Given the description of an element on the screen output the (x, y) to click on. 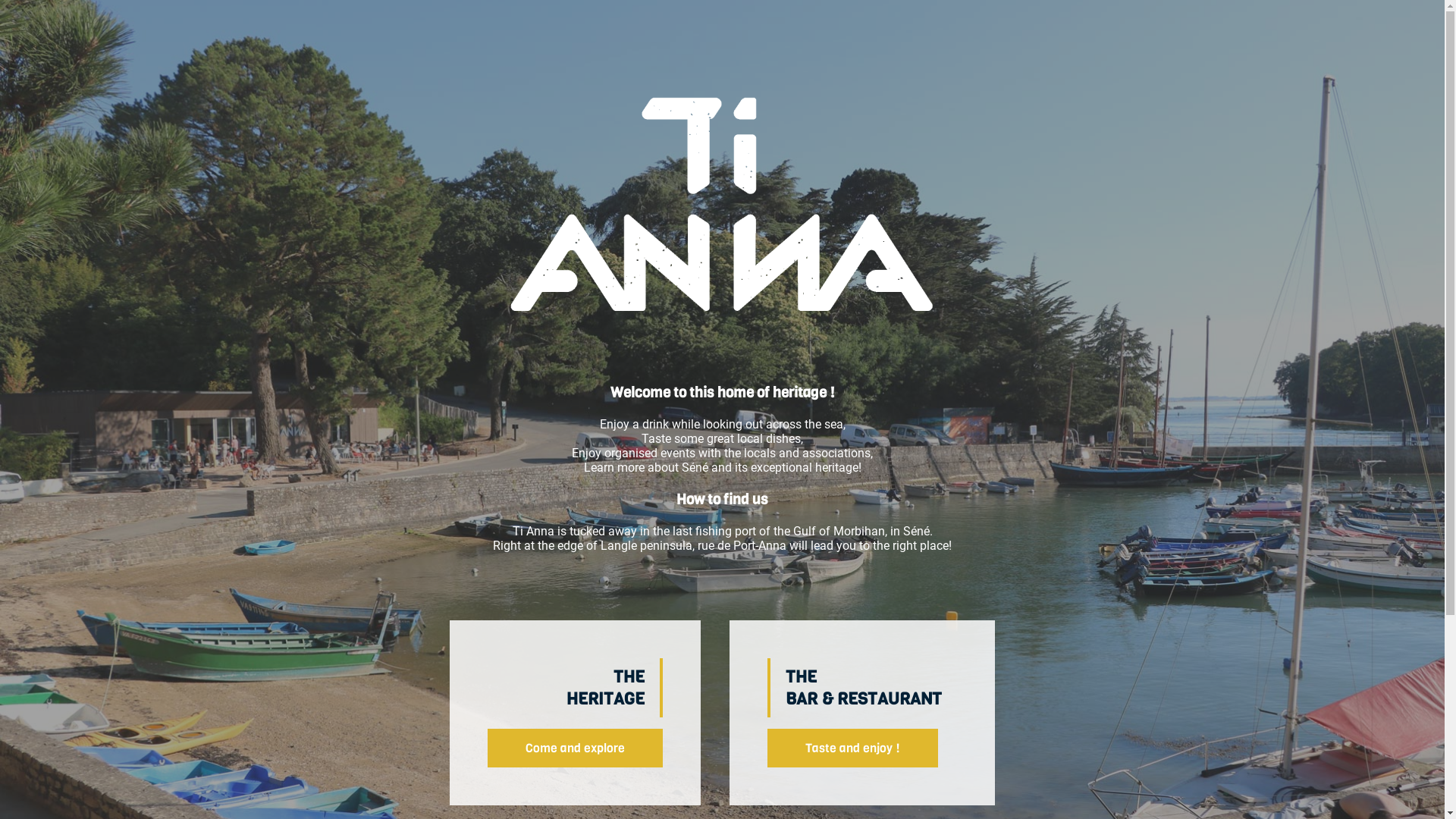
Taste and enjoy ! Element type: text (852, 747)
Come and explore Element type: text (574, 747)
